Given the description of an element on the screen output the (x, y) to click on. 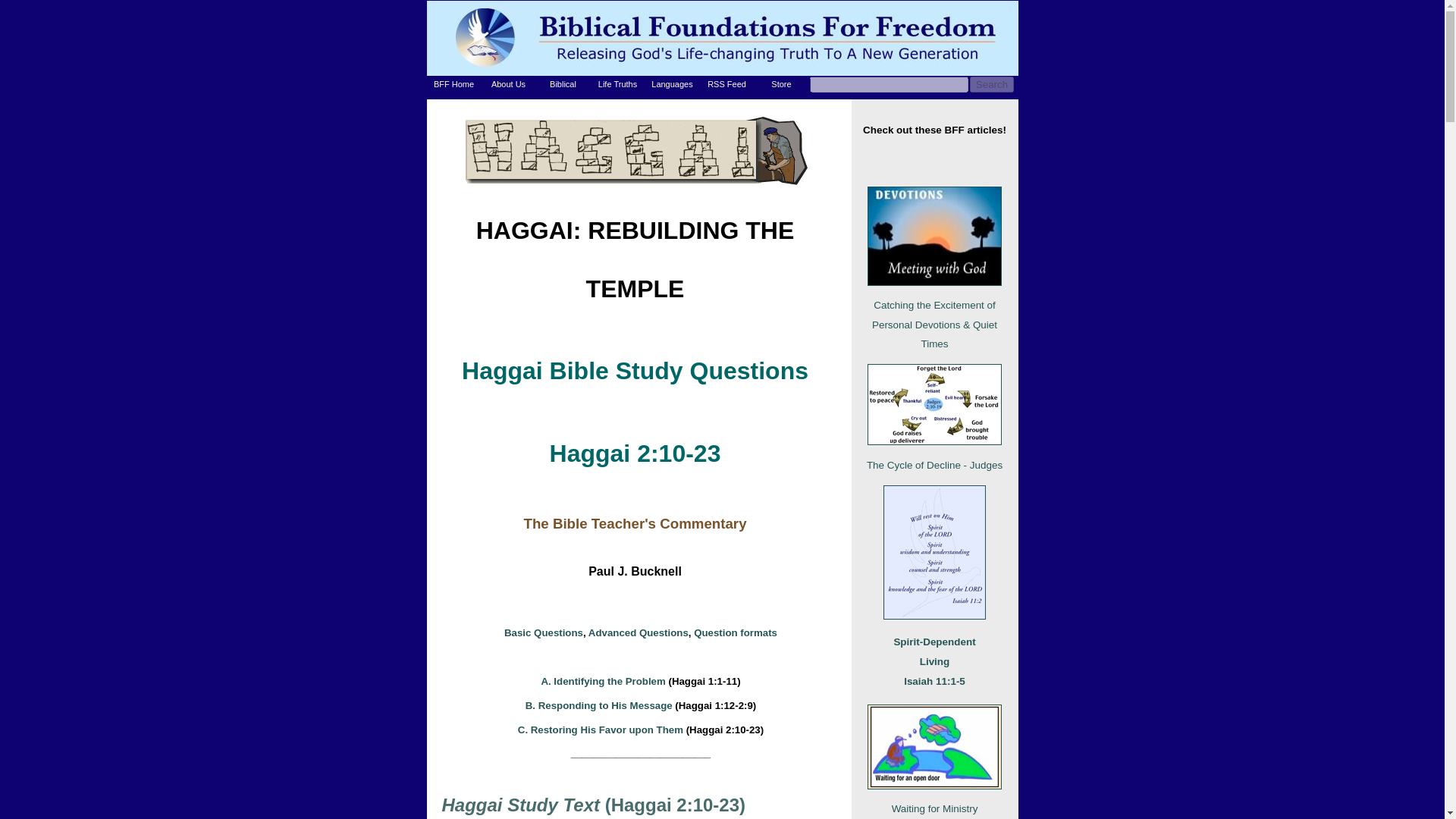
Life Truths (617, 84)
Languages (671, 84)
Biblical (562, 84)
About Us (507, 84)
RSS Feed (726, 84)
Search (991, 84)
BFF Home (453, 84)
